Given the description of an element on the screen output the (x, y) to click on. 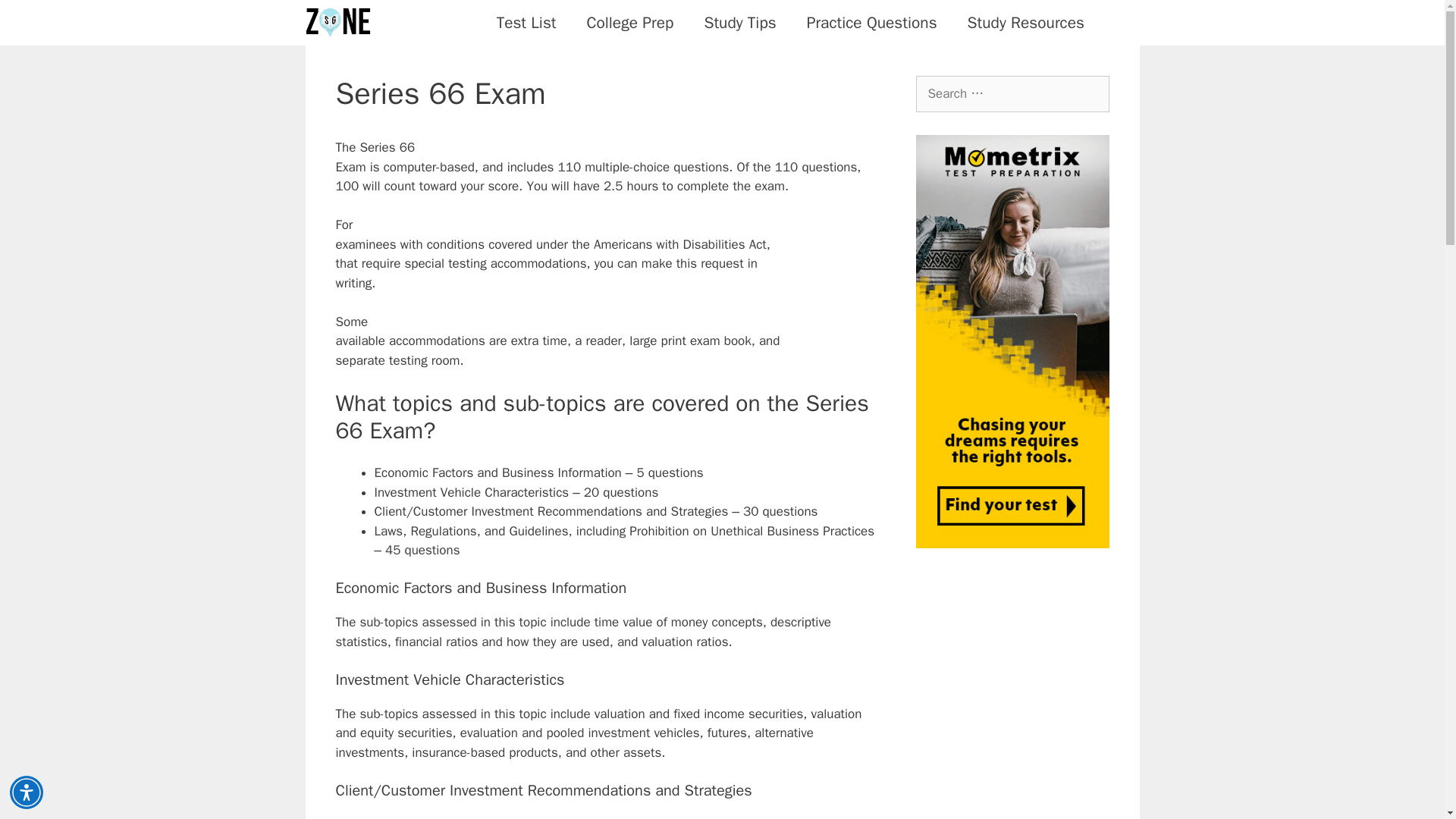
College Prep (630, 22)
Accessibility Menu (26, 792)
Study Tips (739, 22)
Search (35, 18)
Study Guide Zone (340, 22)
Practice Questions (872, 22)
Search for: (1012, 94)
Study Resources (1025, 22)
Test List (526, 22)
Study Guide Zone (336, 22)
